Given the description of an element on the screen output the (x, y) to click on. 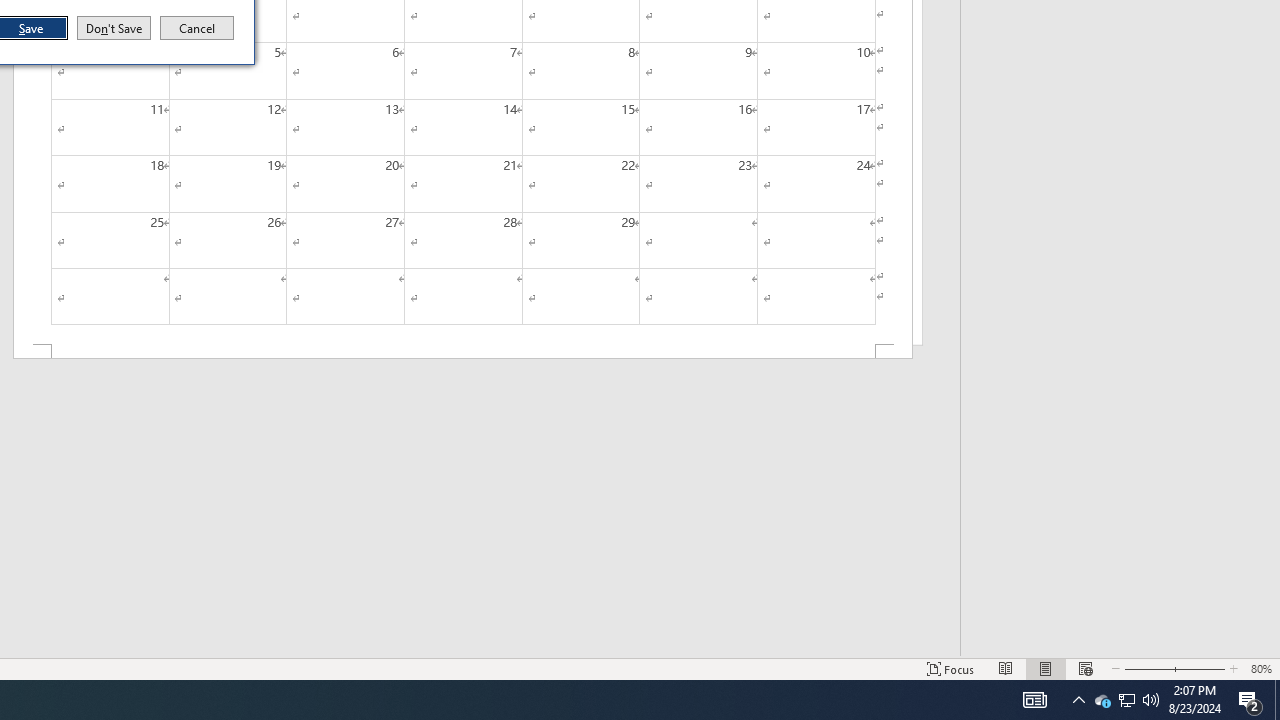
Q2790: 100% (1151, 699)
Show desktop (1102, 699)
Footer -Section 2- (1277, 699)
Cancel (462, 351)
AutomationID: 4105 (1126, 699)
Notification Chevron (197, 27)
Action Center, 2 new notifications (1034, 699)
